Given the description of an element on the screen output the (x, y) to click on. 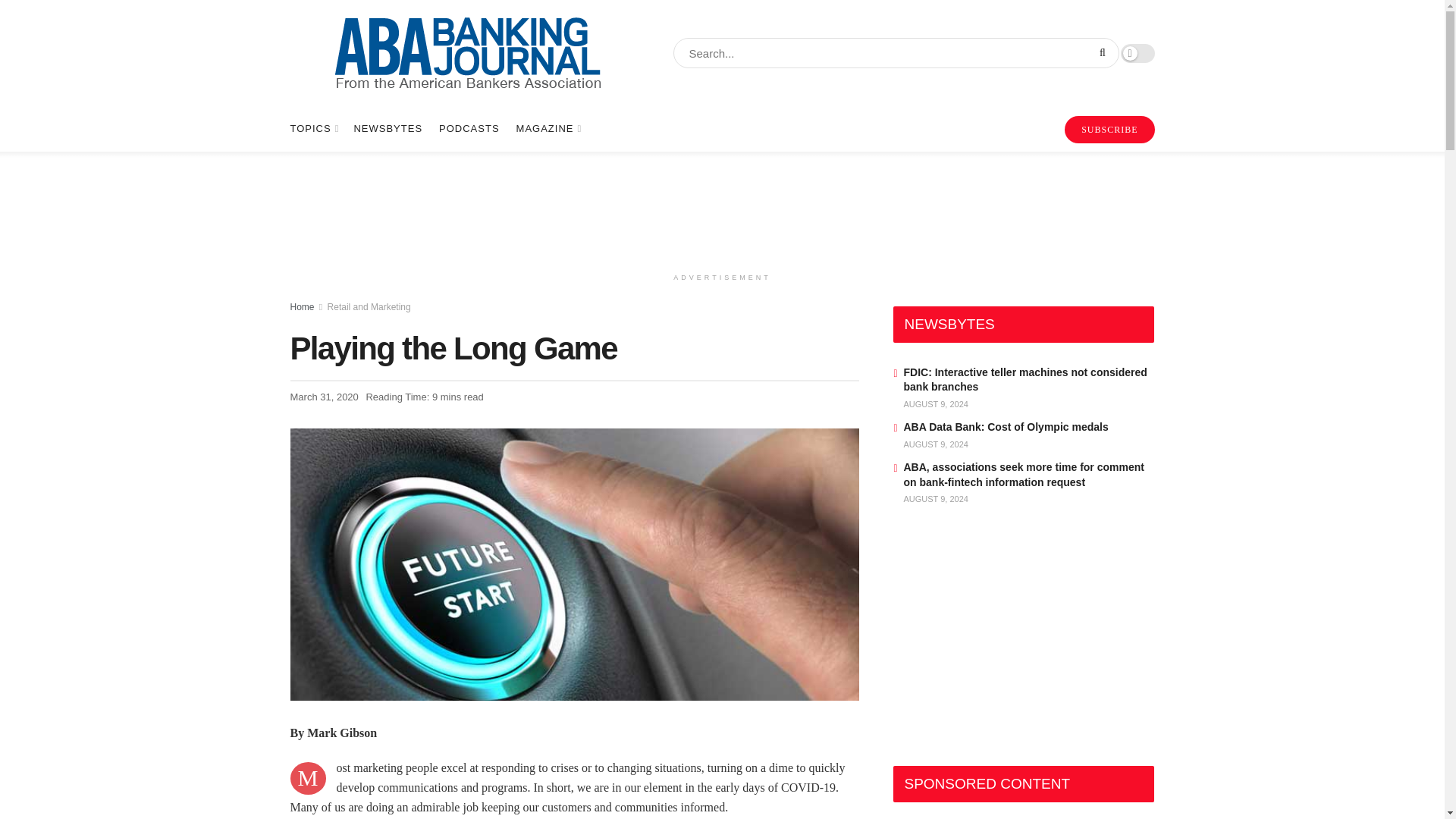
PODCASTS (469, 128)
TOPICS (312, 128)
3rd party ad content (1007, 640)
NEWSBYTES (387, 128)
3rd party ad content (721, 208)
MAGAZINE (547, 128)
SUBSCRIBE (1109, 129)
